Given the description of an element on the screen output the (x, y) to click on. 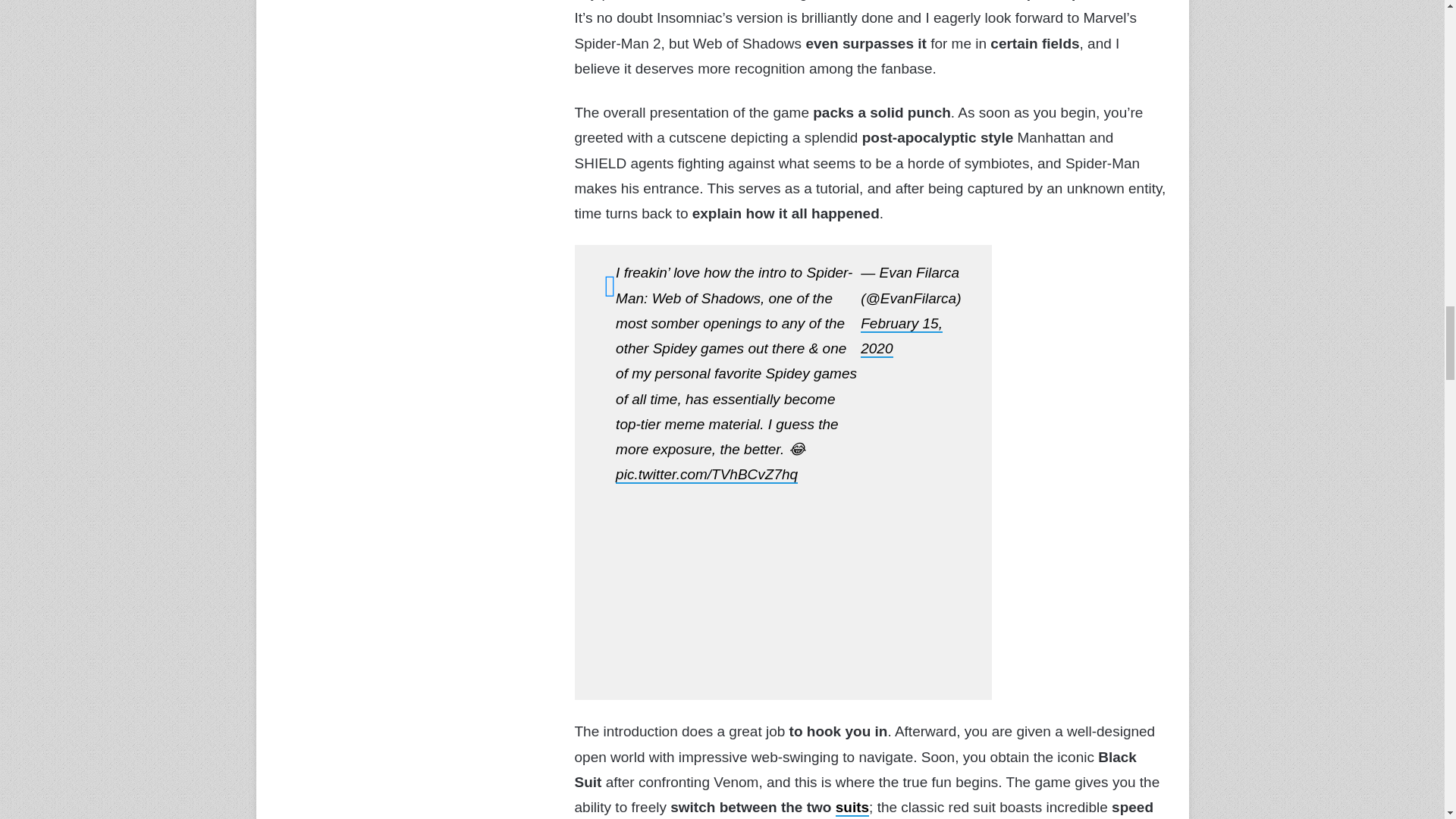
suits (852, 807)
